Given the description of an element on the screen output the (x, y) to click on. 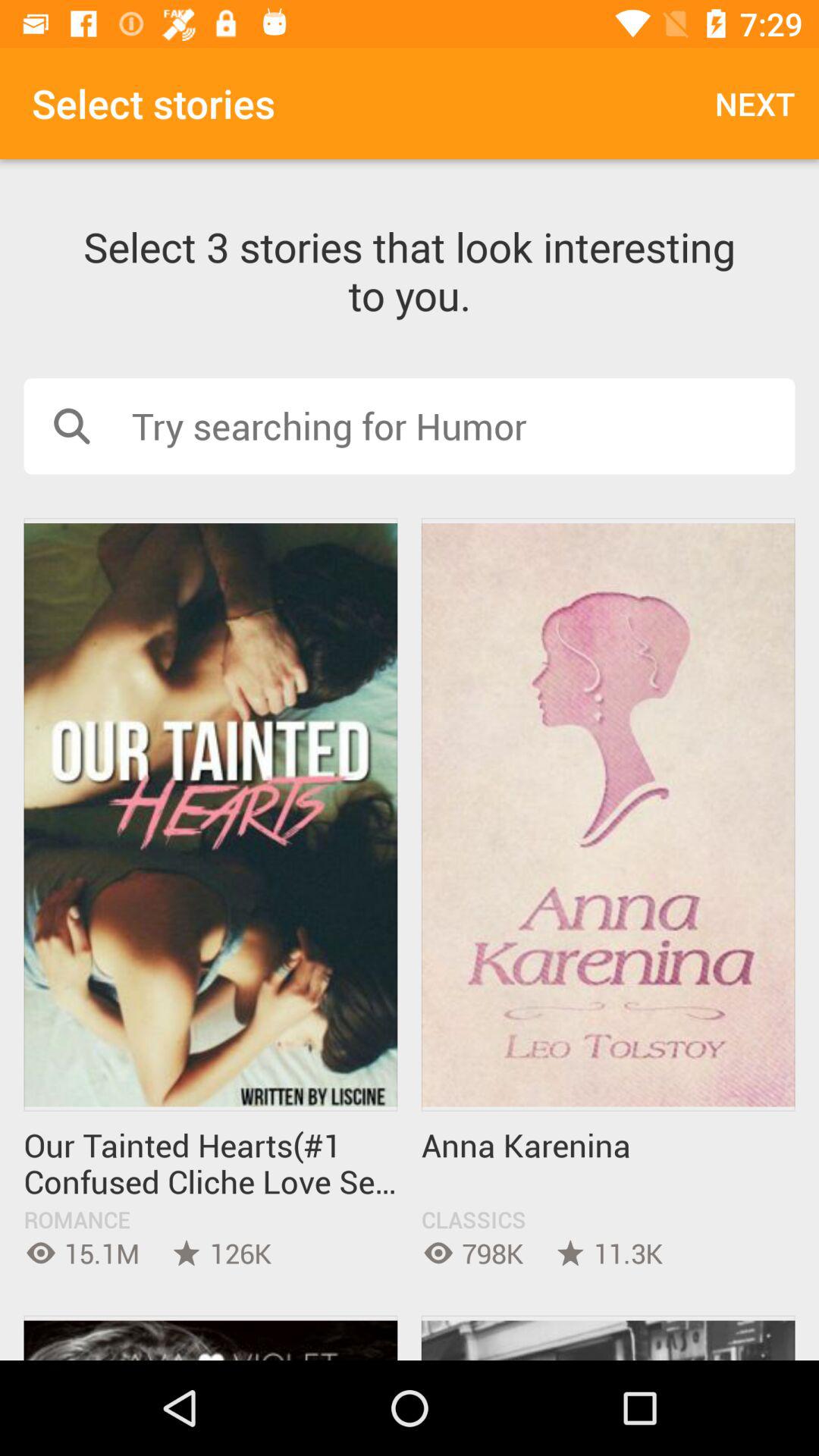
open item above the select 3 stories item (755, 103)
